Given the description of an element on the screen output the (x, y) to click on. 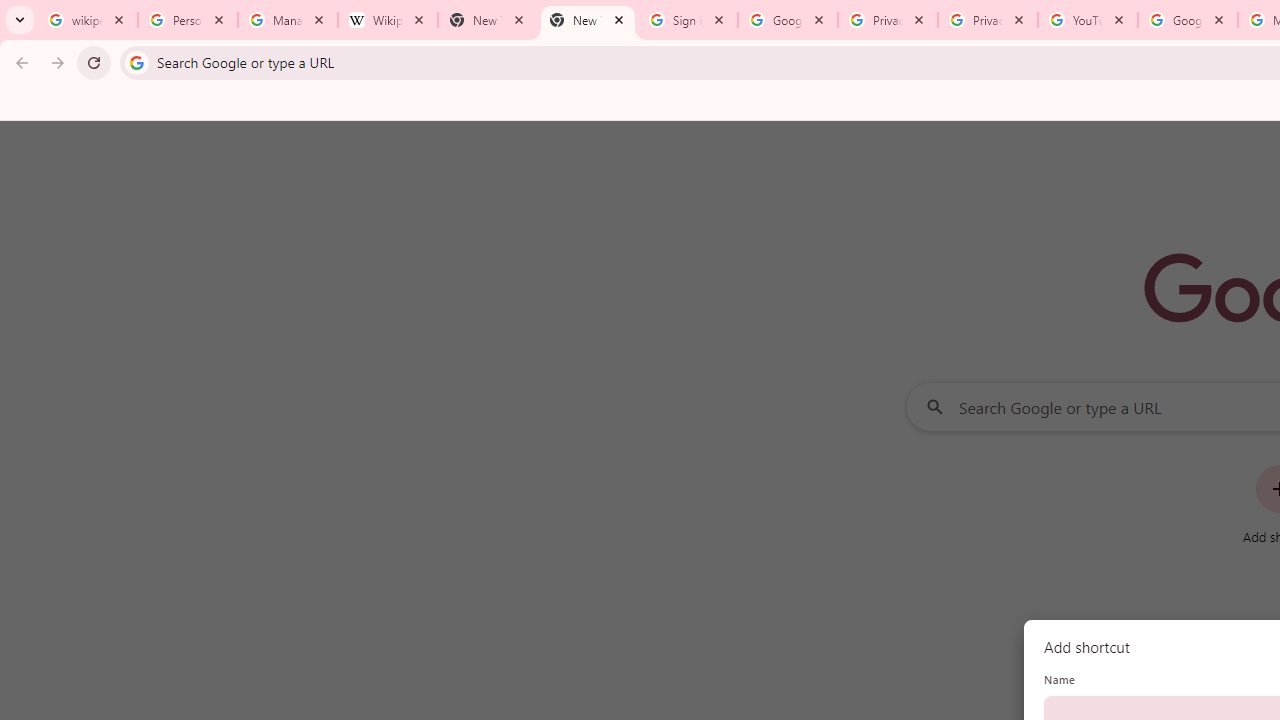
New Tab (587, 20)
